Given the description of an element on the screen output the (x, y) to click on. 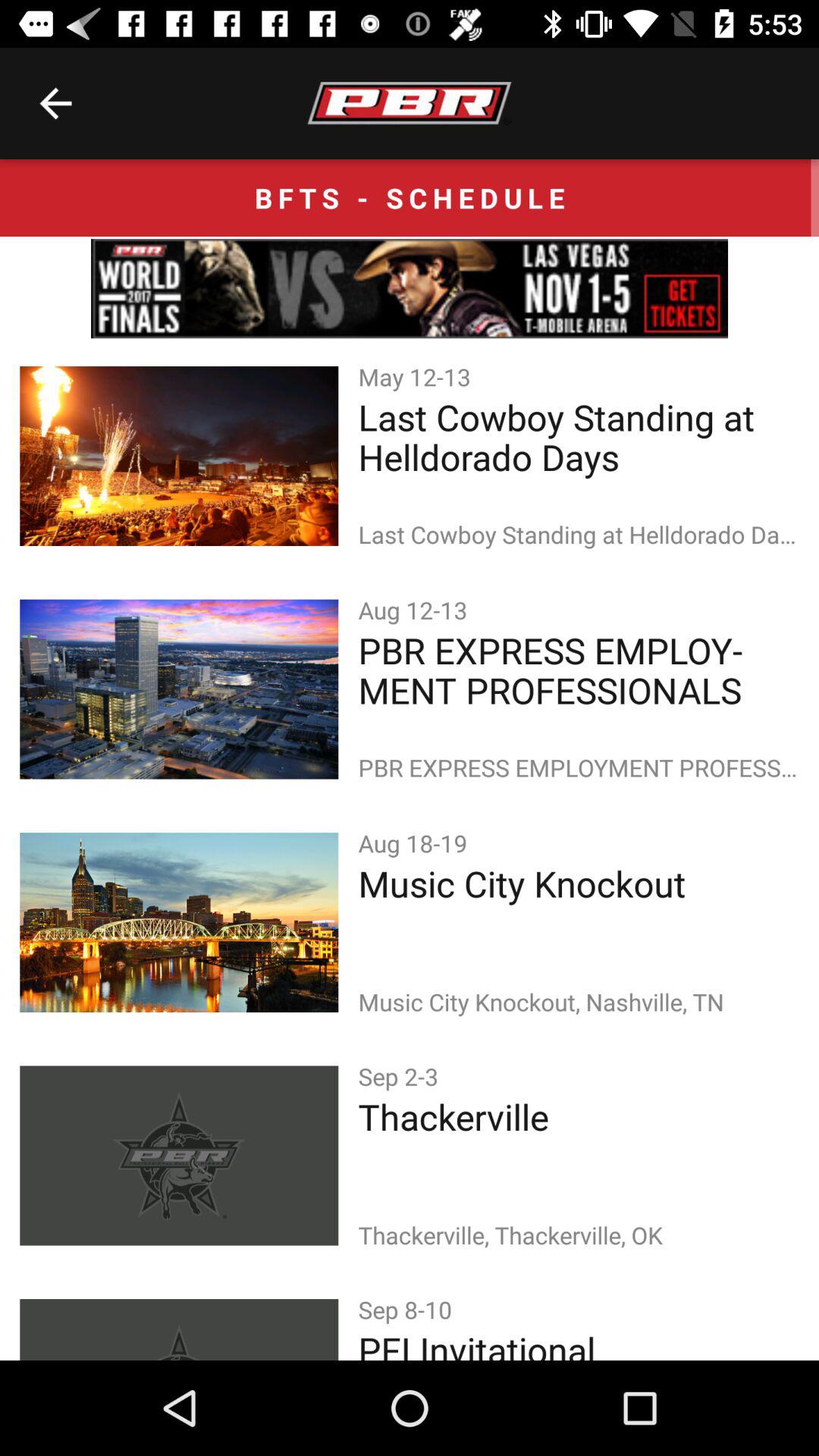
turn off sep 8-10 (408, 1309)
